Given the description of an element on the screen output the (x, y) to click on. 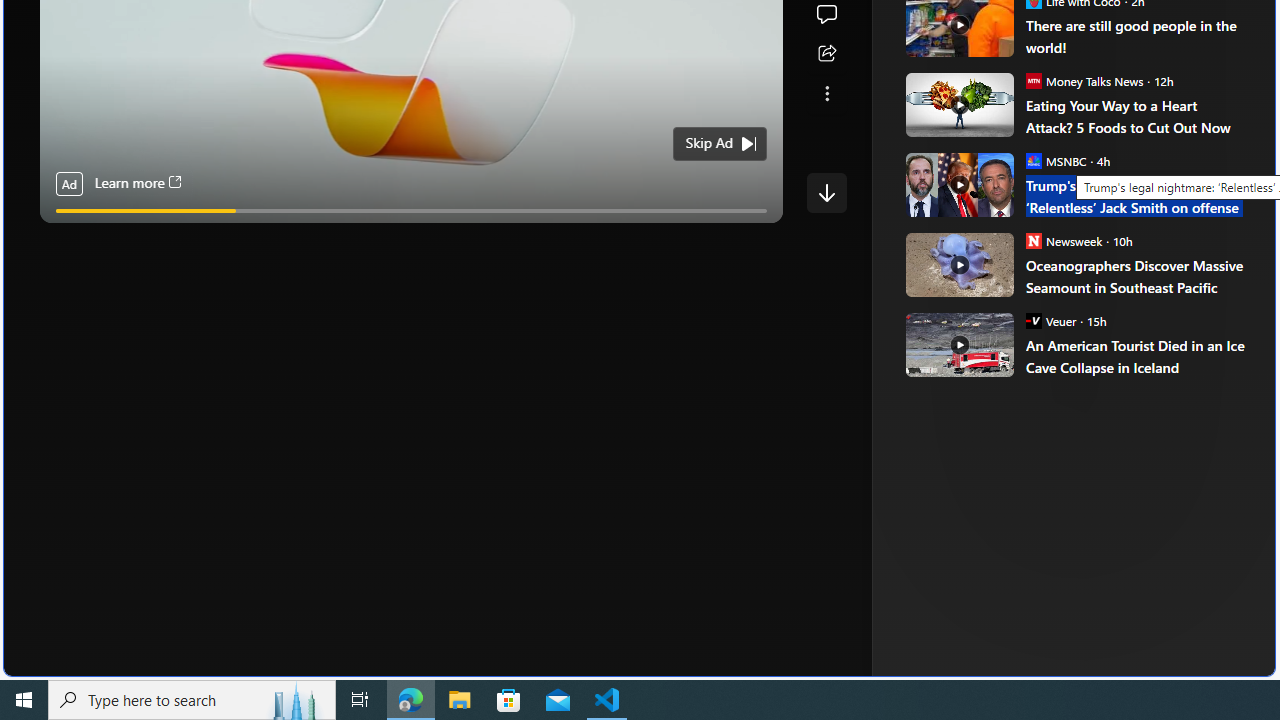
Newsweek Newsweek (1064, 240)
See more (826, 93)
There are still good people in the world! (1136, 36)
See more (826, 93)
An American Tourist Died in an Ice Cave Collapse in Iceland (1136, 356)
Nordace (1003, 337)
Ad Choice (1212, 336)
video progress bar (411, 210)
Money Talks News Money Talks News (1084, 80)
Veuer Veuer (1050, 320)
Ad (963, 337)
Veuer (1033, 320)
Unmute (757, 235)
